Given the description of an element on the screen output the (x, y) to click on. 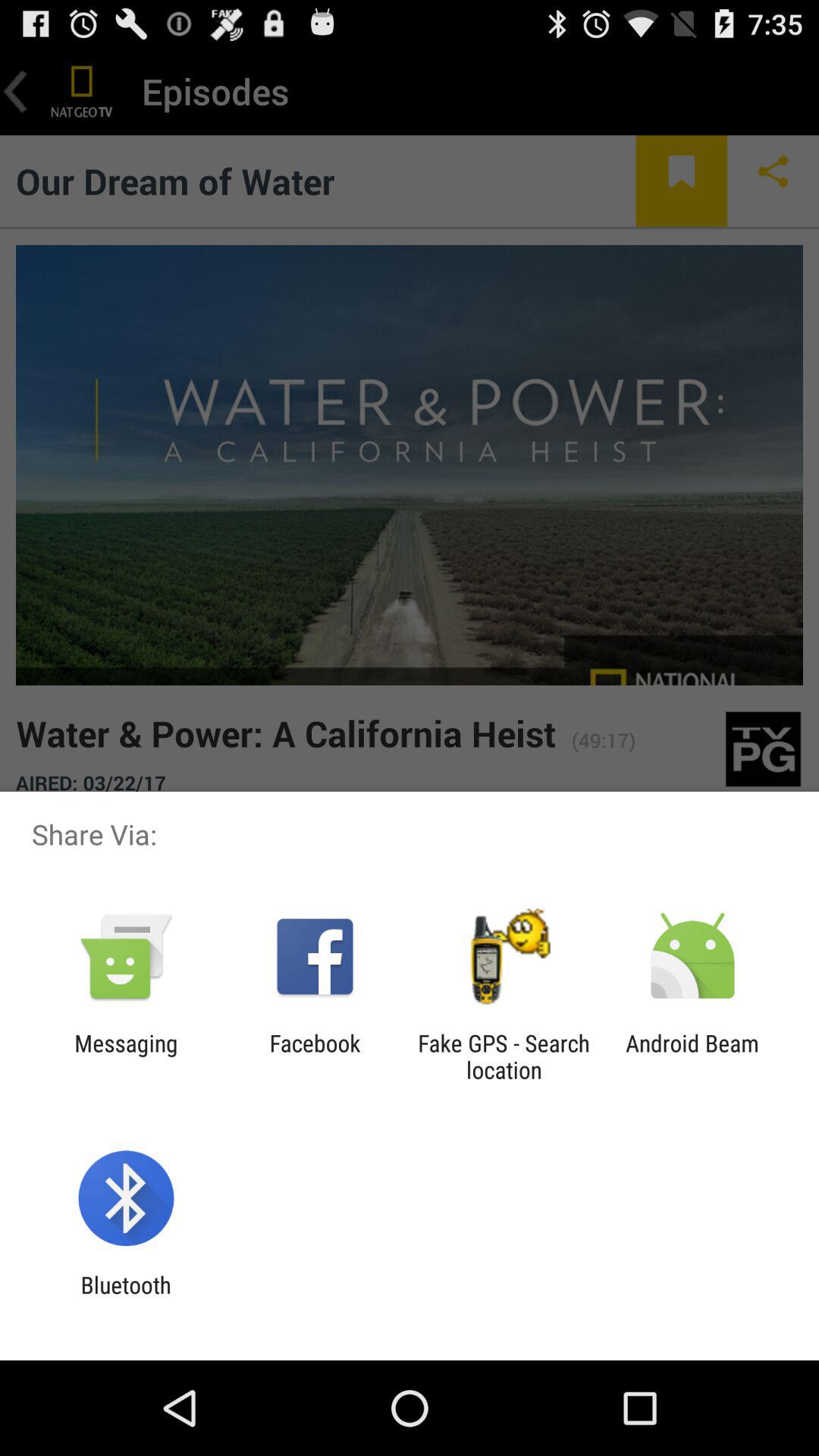
turn on item to the right of facebook item (503, 1056)
